Given the description of an element on the screen output the (x, y) to click on. 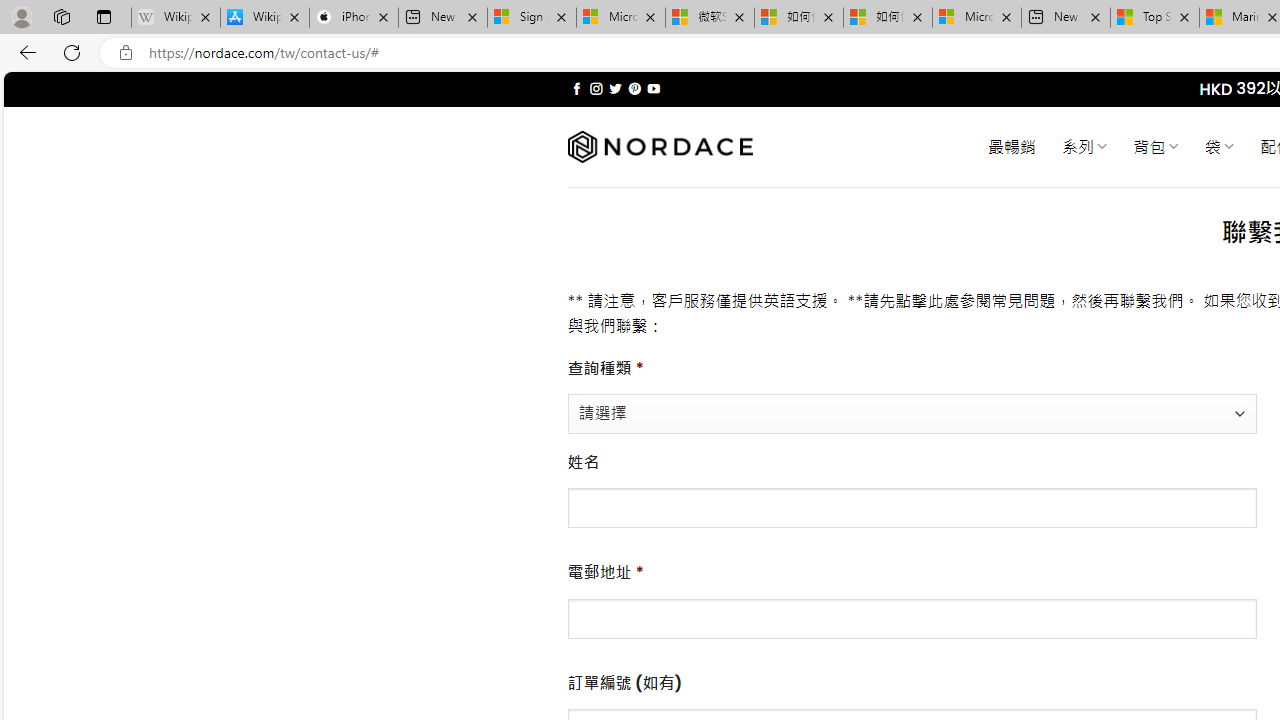
Follow on Facebook (576, 88)
Follow on Pinterest (634, 88)
Follow on Twitter (615, 88)
iPhone - Apple (353, 17)
